Given the description of an element on the screen output the (x, y) to click on. 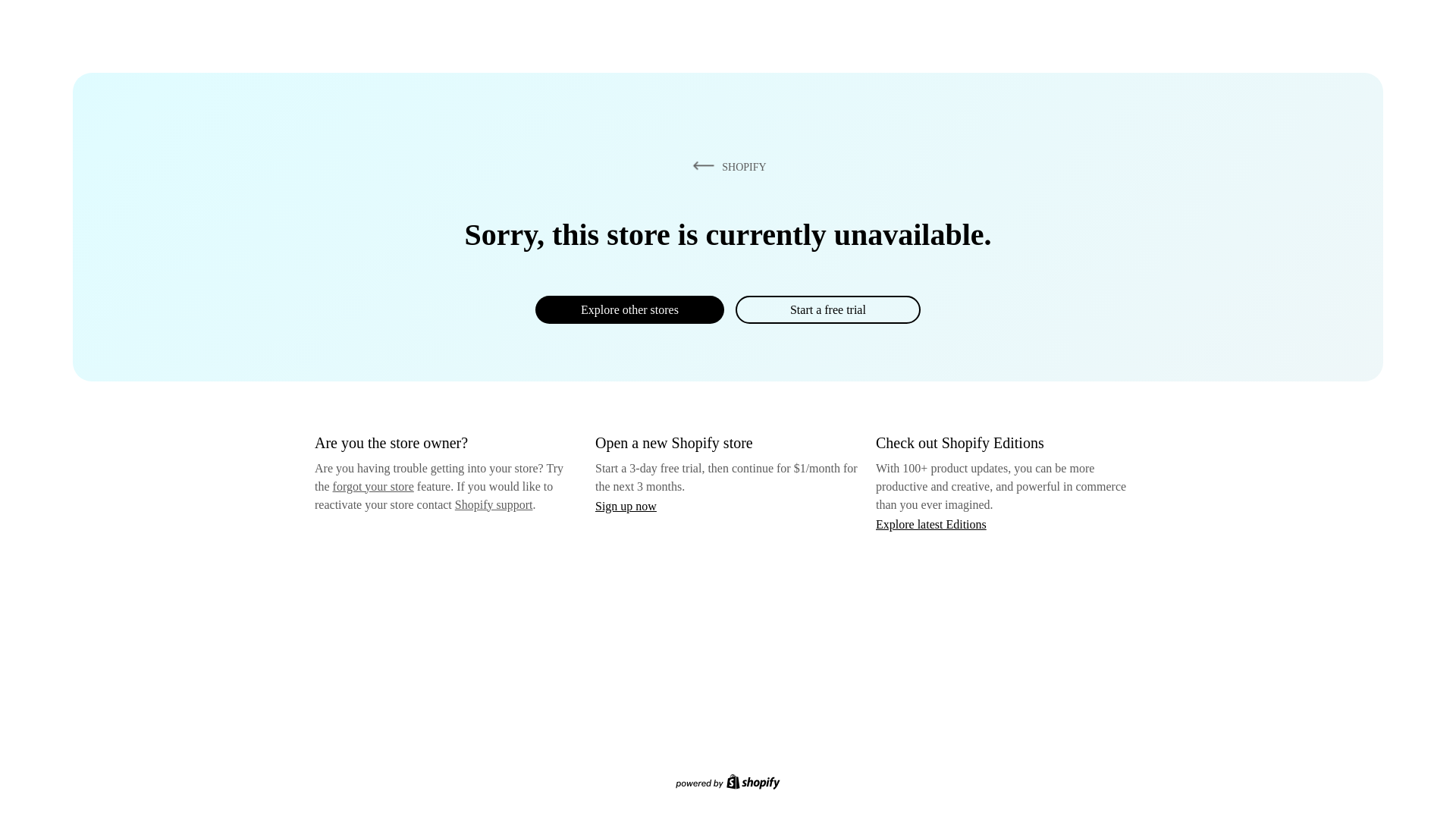
Explore other stores (629, 309)
forgot your store (373, 486)
Sign up now (625, 505)
Explore latest Editions (931, 523)
Start a free trial (827, 309)
Shopify support (493, 504)
SHOPIFY (726, 166)
